Given the description of an element on the screen output the (x, y) to click on. 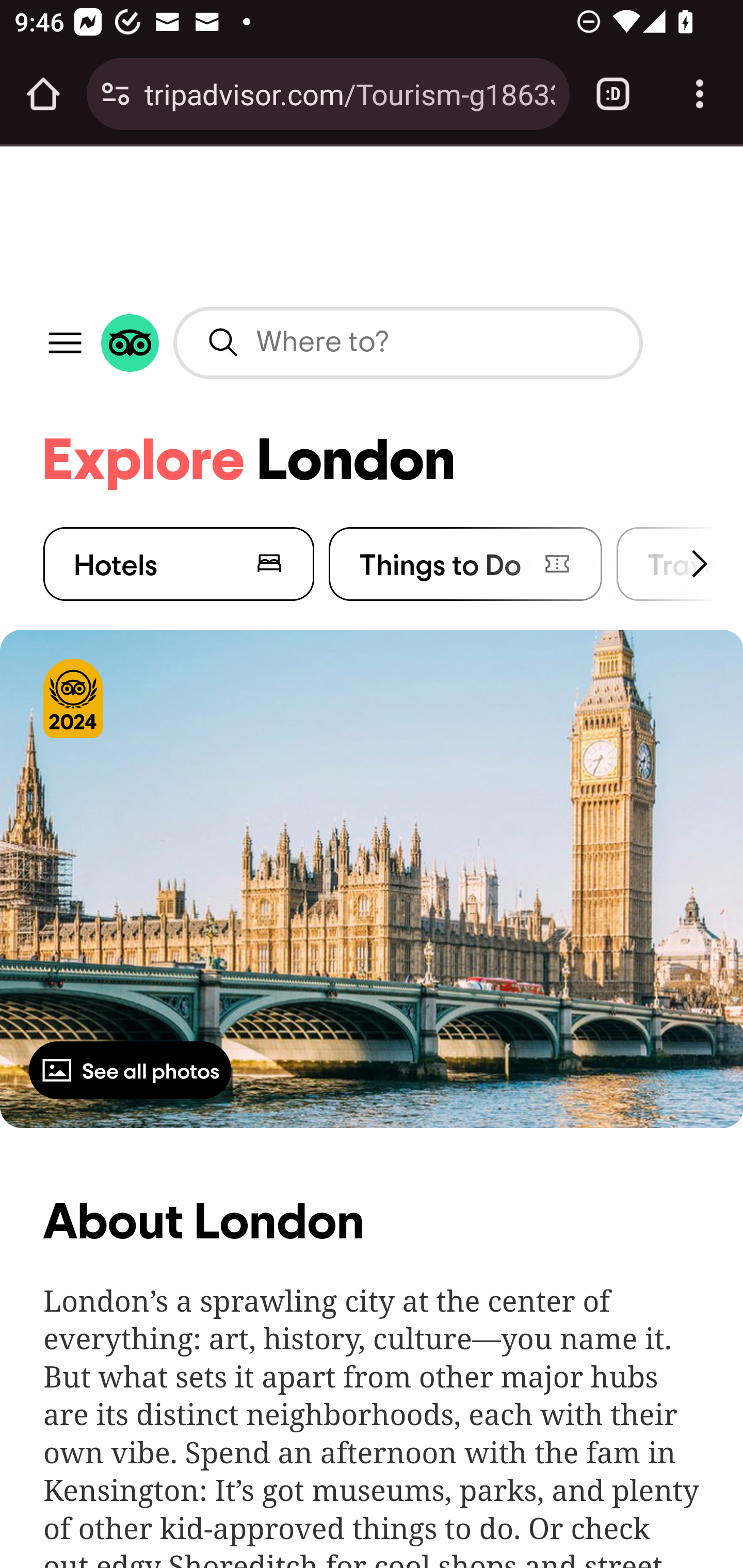
Open the home page (43, 93)
Connection is secure (115, 93)
Switch or close tabs (612, 93)
Customize and control Google Chrome (699, 93)
Menu (65, 342)
Search (223, 342)
Tripadvisor Tripadvisor Tripadvisor (130, 343)
Hotels (179, 563)
Things to Do (465, 563)
See all photos (371, 877)
See all photos (130, 1069)
